Given the description of an element on the screen output the (x, y) to click on. 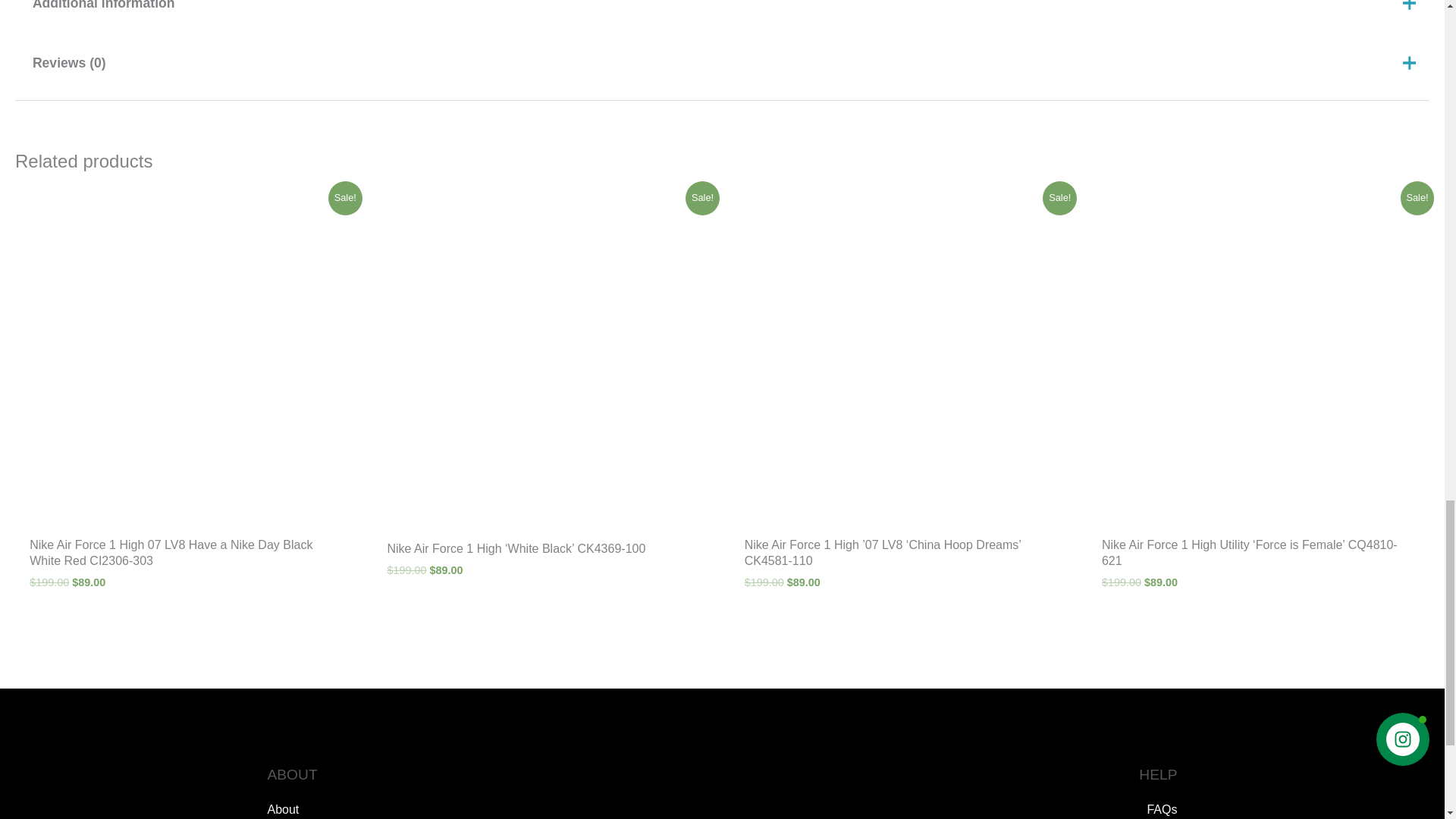
Converse Chuck Taylor Animal Print Suede High Tops - 165611C (722, 791)
